Given the description of an element on the screen output the (x, y) to click on. 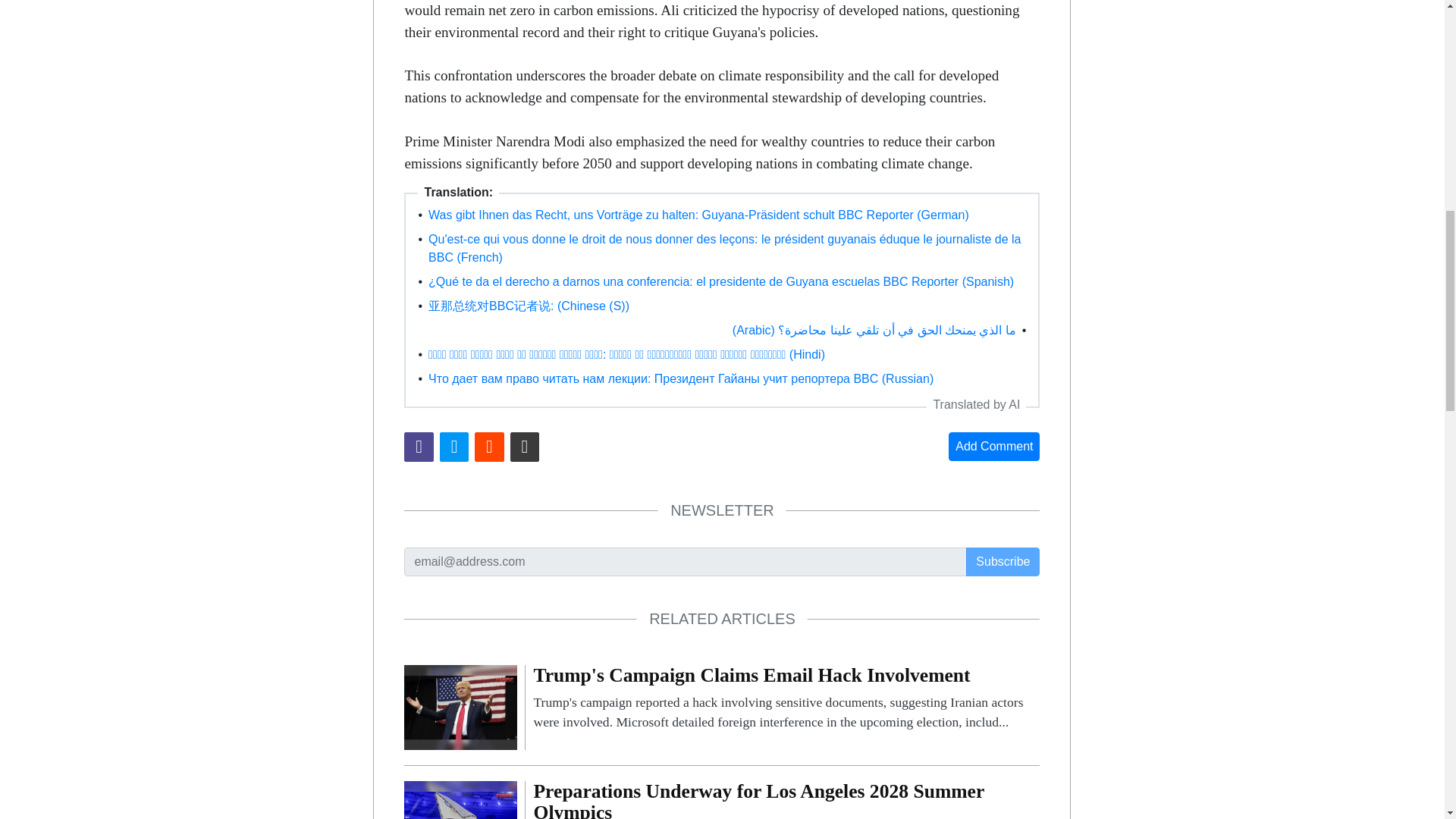
Preparations Underway for Los Angeles 2028 Summer Olympics (460, 817)
Trump's Campaign Claims Email Hack Involvement (785, 698)
Preparations Underway for Los Angeles 2028 Summer Olympics (785, 800)
Subscribe (1002, 561)
Trump's Campaign Claims Email Hack Involvement (460, 706)
Add Comment (994, 446)
